Given the description of an element on the screen output the (x, y) to click on. 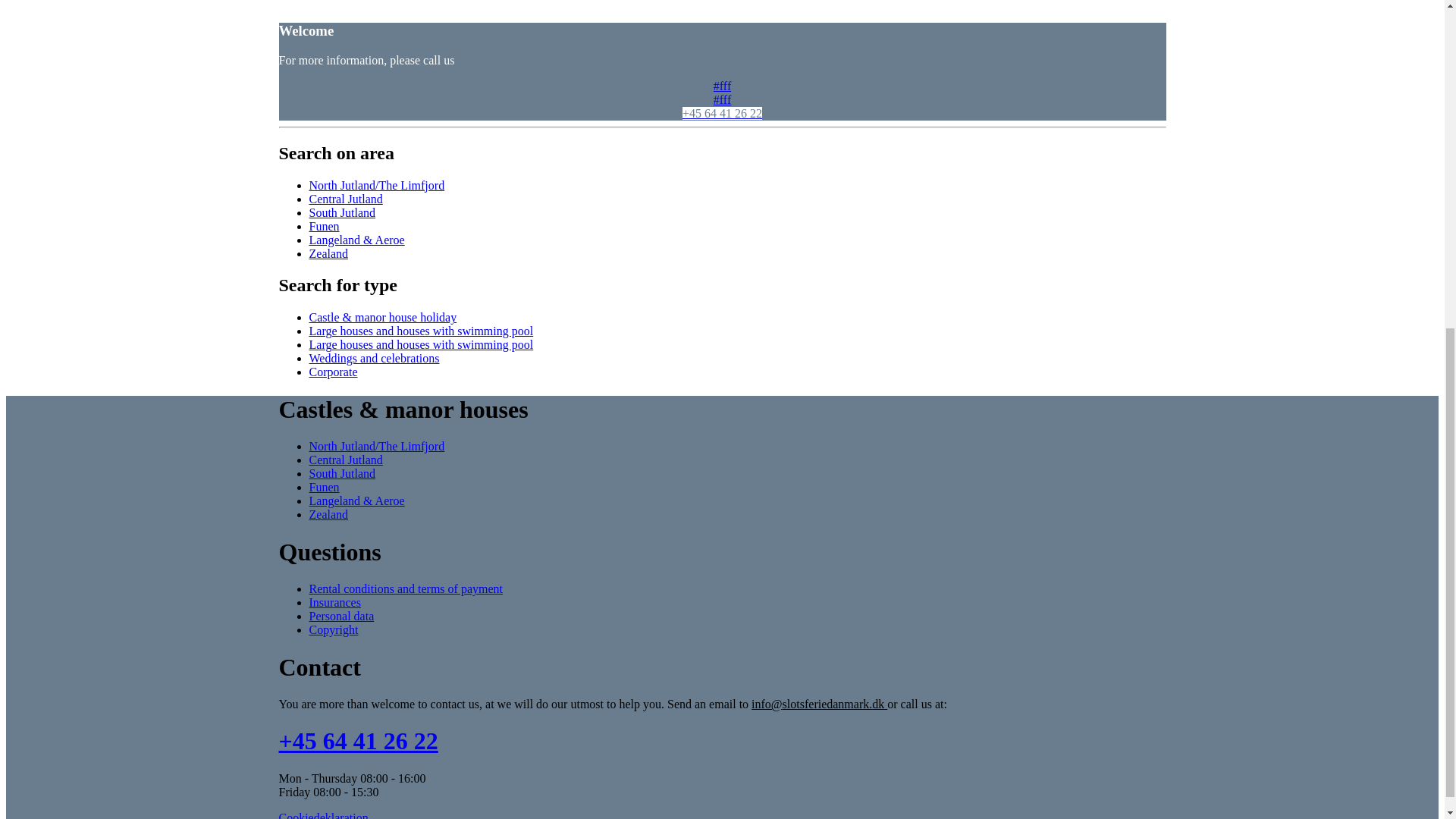
Zealand (328, 252)
Central Jutland (345, 197)
Large houses and houses with swimming pool (421, 330)
Corporate (333, 371)
Funen (323, 225)
South Jutland (341, 211)
Weddings and celebrations (373, 358)
Large houses and houses with swimming pool (421, 344)
Central Jutland (345, 459)
